Given the description of an element on the screen output the (x, y) to click on. 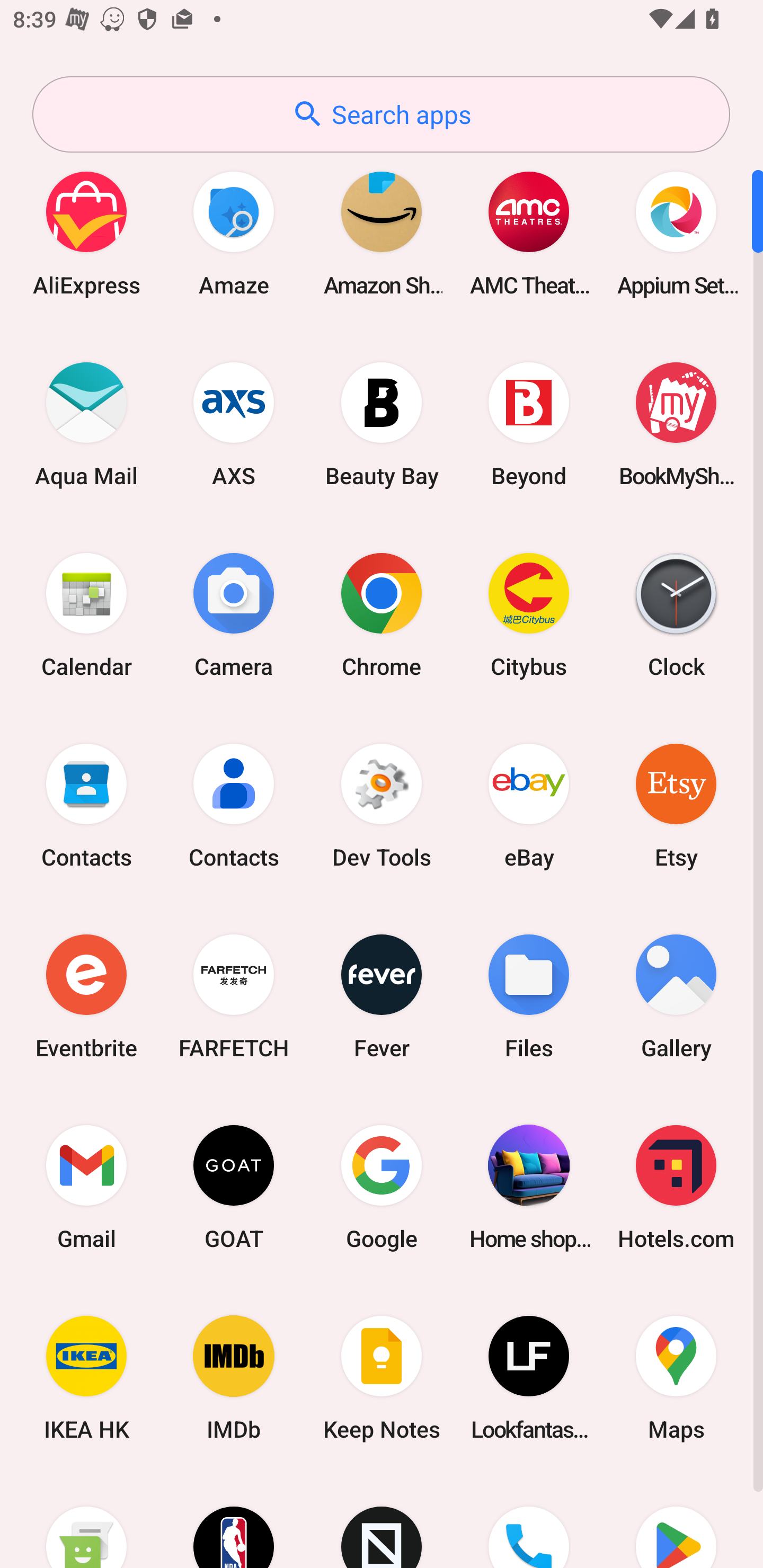
  Search apps (381, 114)
AliExpress (86, 233)
Amaze (233, 233)
Amazon Shopping (381, 233)
AMC Theatres (528, 233)
Appium Settings (676, 233)
Aqua Mail (86, 424)
AXS (233, 424)
Beauty Bay (381, 424)
Beyond (528, 424)
BookMyShow (676, 424)
Calendar (86, 614)
Camera (233, 614)
Chrome (381, 614)
Citybus (528, 614)
Clock (676, 614)
Contacts (86, 805)
Contacts (233, 805)
Dev Tools (381, 805)
eBay (528, 805)
Etsy (676, 805)
Eventbrite (86, 996)
FARFETCH (233, 996)
Fever (381, 996)
Files (528, 996)
Gallery (676, 996)
Gmail (86, 1186)
GOAT (233, 1186)
Google (381, 1186)
Home shopping (528, 1186)
Hotels.com (676, 1186)
IKEA HK (86, 1377)
IMDb (233, 1377)
Keep Notes (381, 1377)
Lookfantastic (528, 1377)
Maps (676, 1377)
Messaging (86, 1520)
NBA (233, 1520)
Novelship (381, 1520)
Phone (528, 1520)
Play Store (676, 1520)
